Given the description of an element on the screen output the (x, y) to click on. 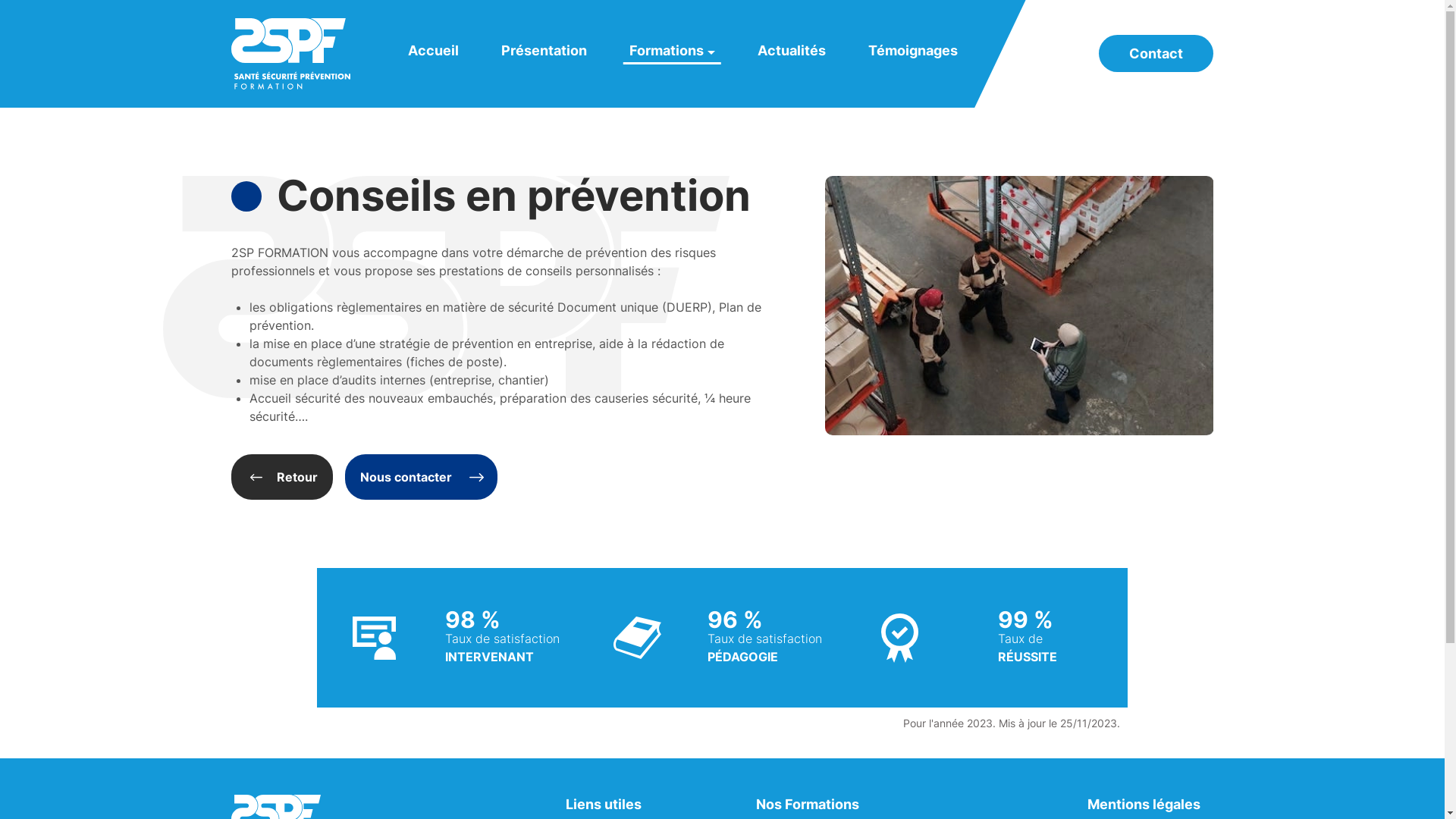
Formations Element type: text (671, 50)
Retour Element type: text (281, 476)
Accueil Element type: hover (291, 53)
Nous contacter Element type: text (421, 476)
Contact Element type: text (1155, 53)
Accueil Element type: text (432, 50)
